Given the description of an element on the screen output the (x, y) to click on. 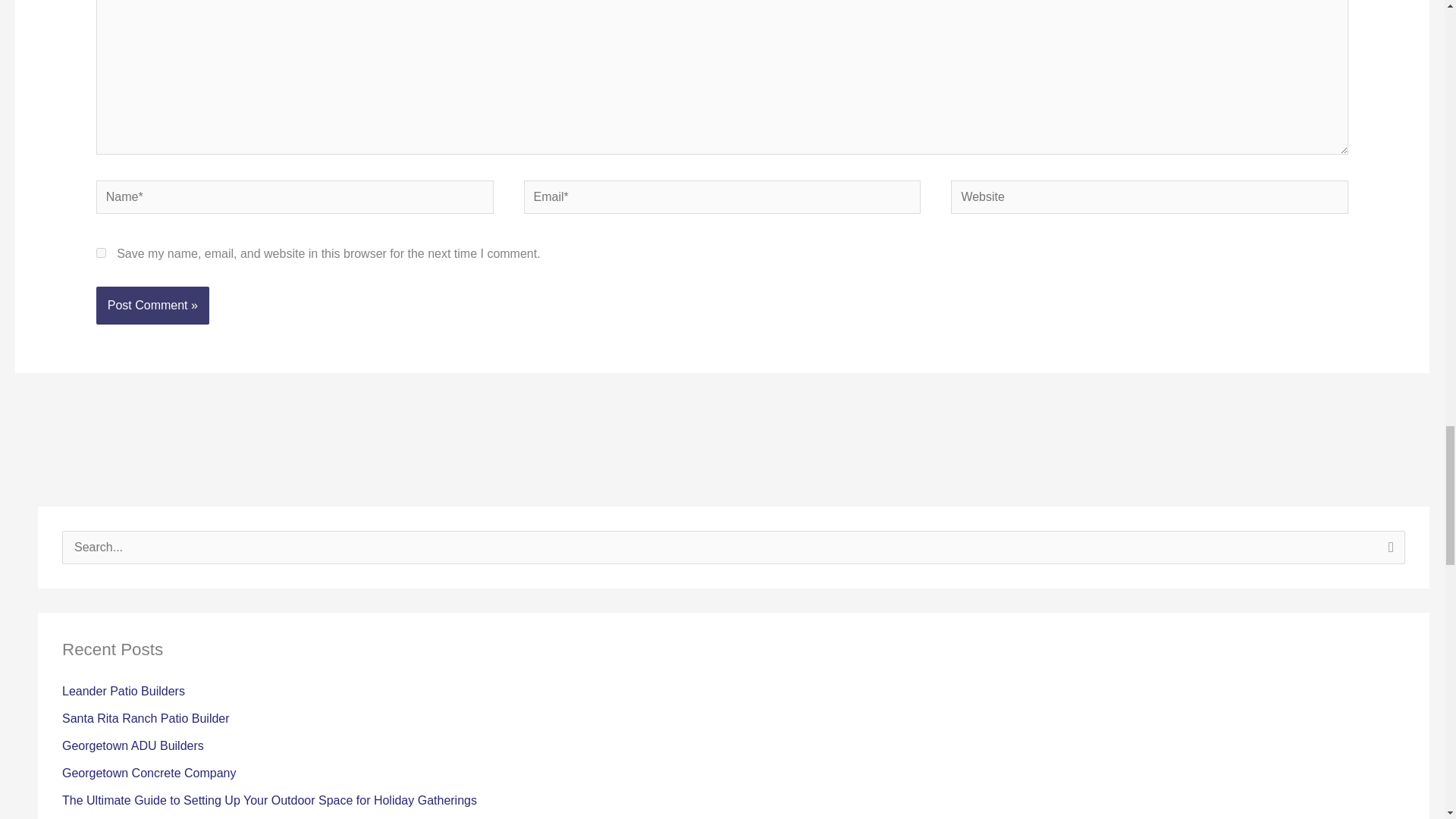
yes (101, 252)
